Given the description of an element on the screen output the (x, y) to click on. 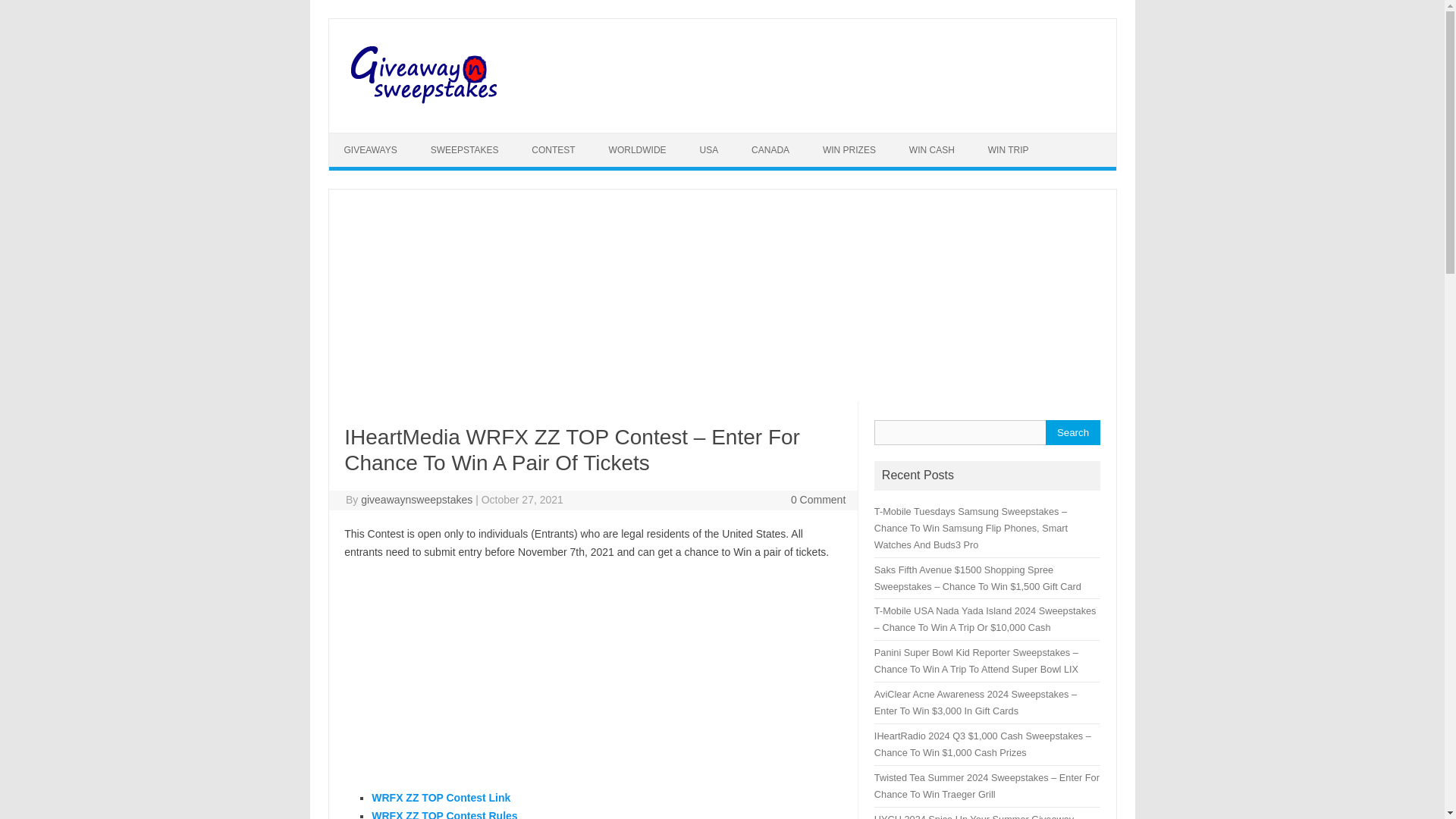
giveawaynsweepstakes (416, 499)
0 Comment (817, 499)
WIN CASH (931, 150)
CONTEST (552, 150)
WRFX ZZ TOP Contest Link (441, 797)
GIVEAWAYS (370, 150)
WRFX ZZ TOP Contest Rules (443, 814)
SWEEPSTAKES (463, 150)
WRFX ZZ TOP Contest Link (441, 797)
WRFX ZZ TOP Contest Rules (443, 814)
Posts by giveawaynsweepstakes (416, 499)
WIN PRIZES (849, 150)
Skip to content (363, 137)
CANADA (770, 150)
GiveawayNsweepstakes (426, 106)
